Given the description of an element on the screen output the (x, y) to click on. 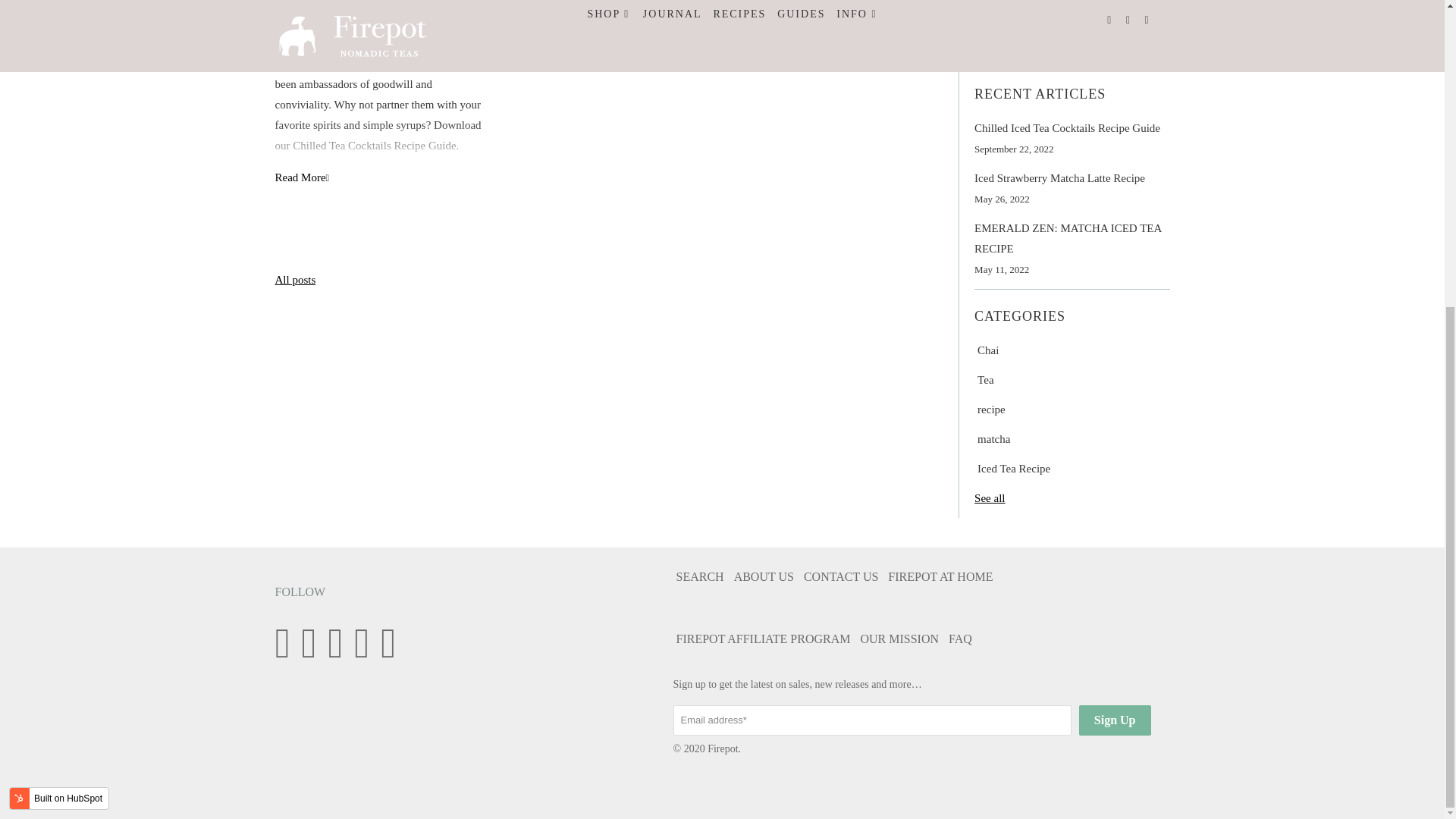
Sign Me Up! (1022, 29)
Sign Up (1114, 720)
